Given the description of an element on the screen output the (x, y) to click on. 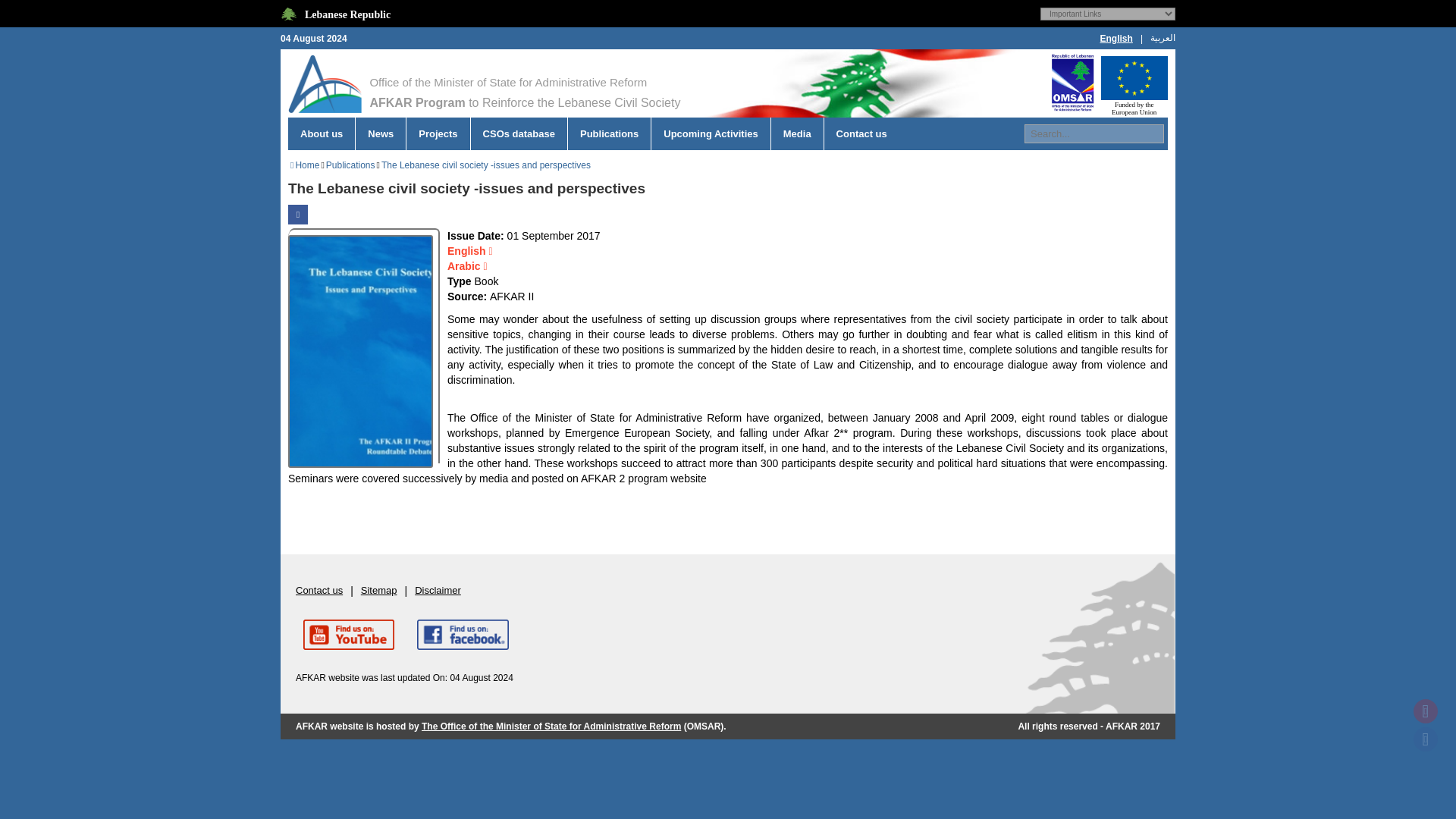
Upcoming Activities (710, 133)
CSOs database (518, 133)
Funded by the European Union (1133, 83)
English (1116, 38)
News (380, 133)
Contact us (860, 133)
Home (306, 164)
Media (796, 133)
English (469, 250)
Publications (350, 164)
The Lebanese civil society -issues and perspectives (486, 164)
Publications (609, 133)
Projects (438, 133)
About us (320, 133)
